Given the description of an element on the screen output the (x, y) to click on. 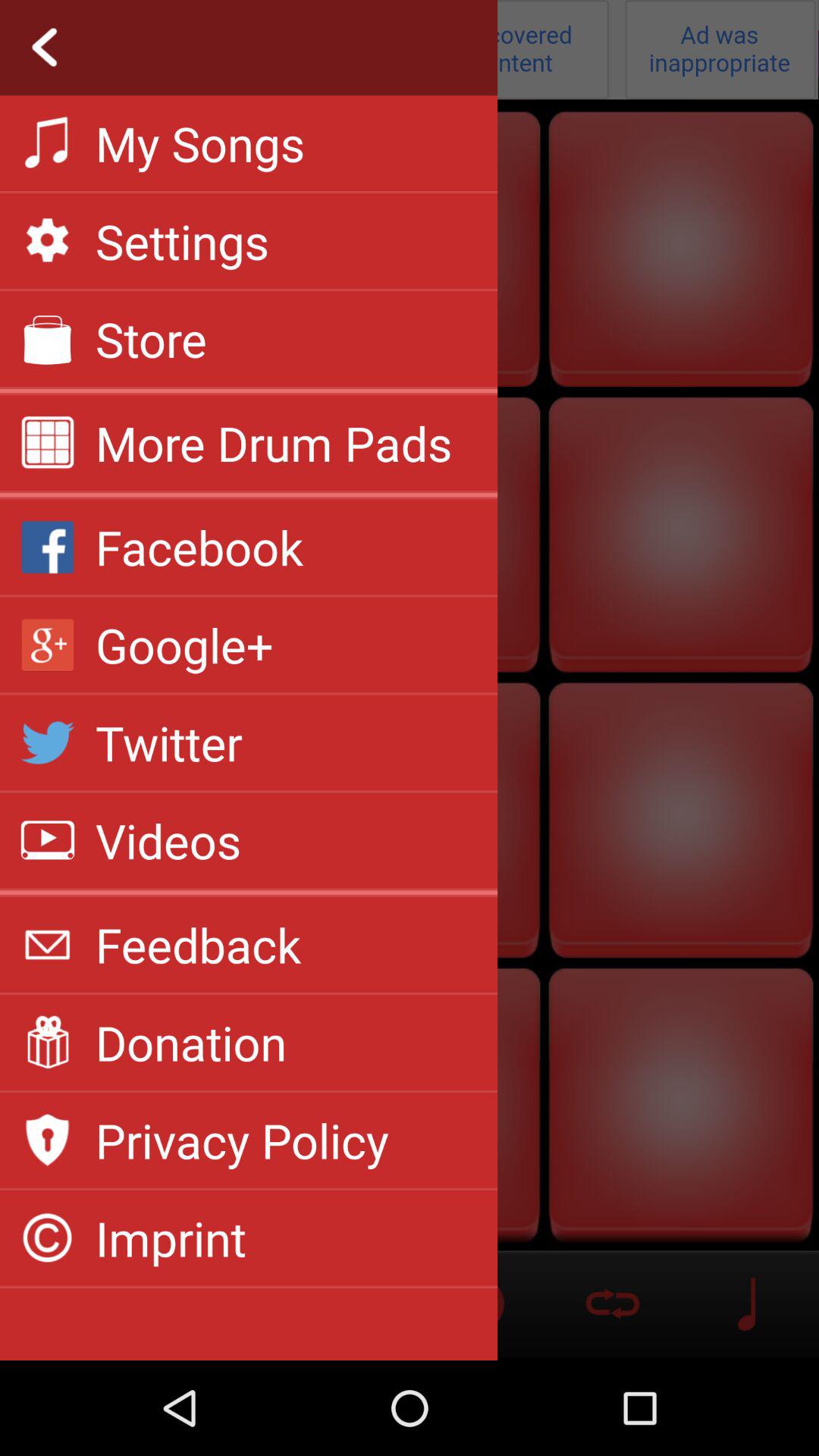
tap app above the store icon (182, 241)
